Given the description of an element on the screen output the (x, y) to click on. 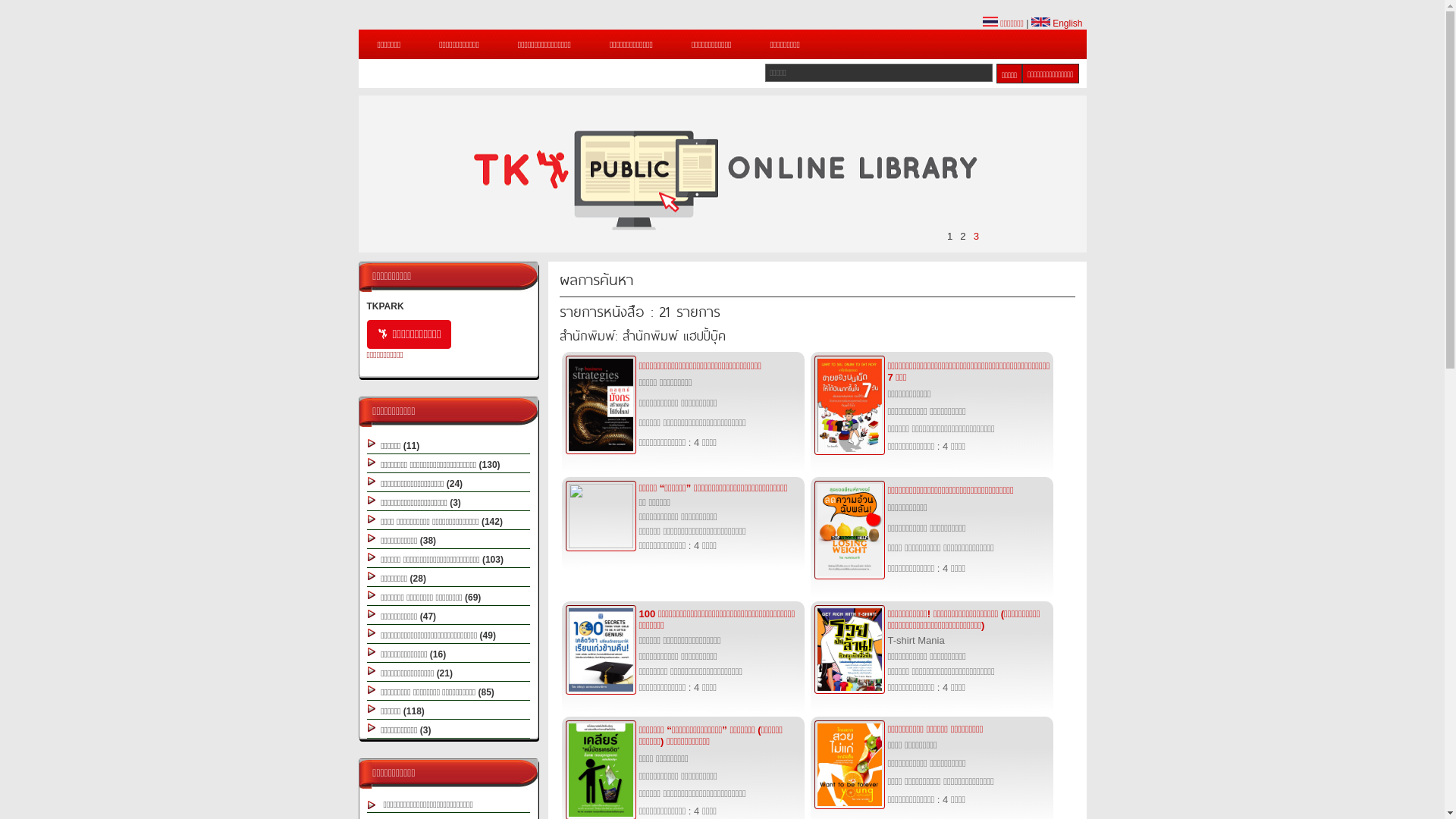
English Element type: text (1056, 23)
2 Element type: text (962, 235)
Search Element type: hover (1009, 73)
3 Element type: text (975, 235)
1 Element type: text (949, 235)
keyword Element type: hover (878, 72)
